Given the description of an element on the screen output the (x, y) to click on. 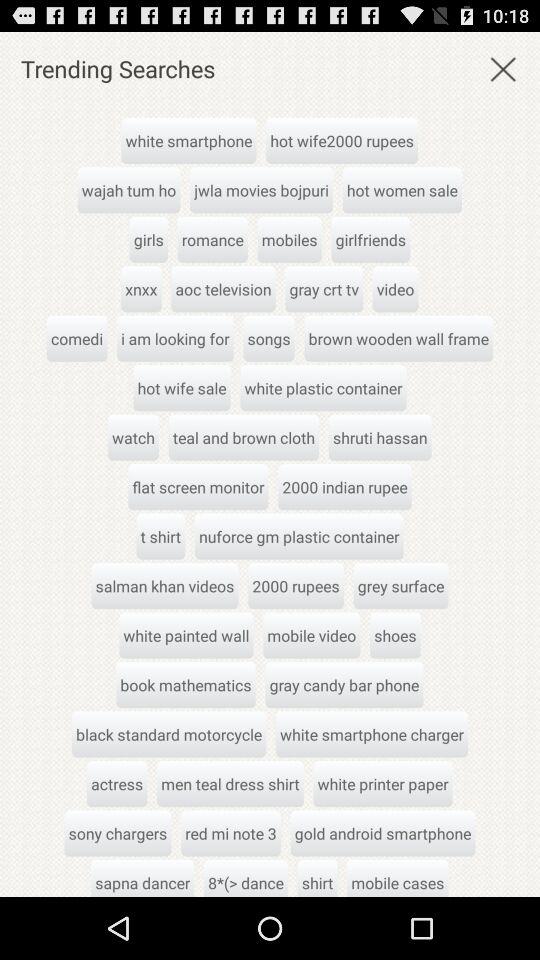
close (503, 68)
